Given the description of an element on the screen output the (x, y) to click on. 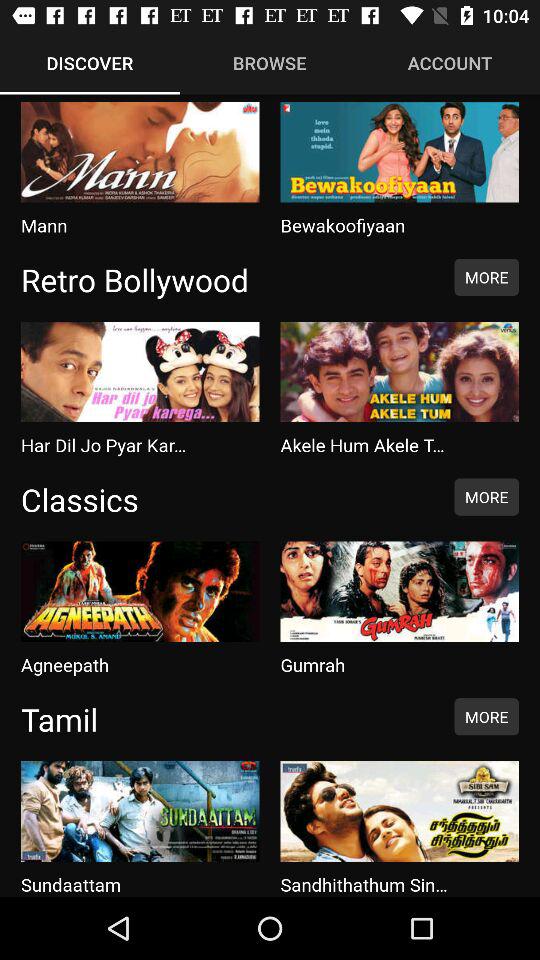
turn off the item to the left of the more (227, 279)
